Given the description of an element on the screen output the (x, y) to click on. 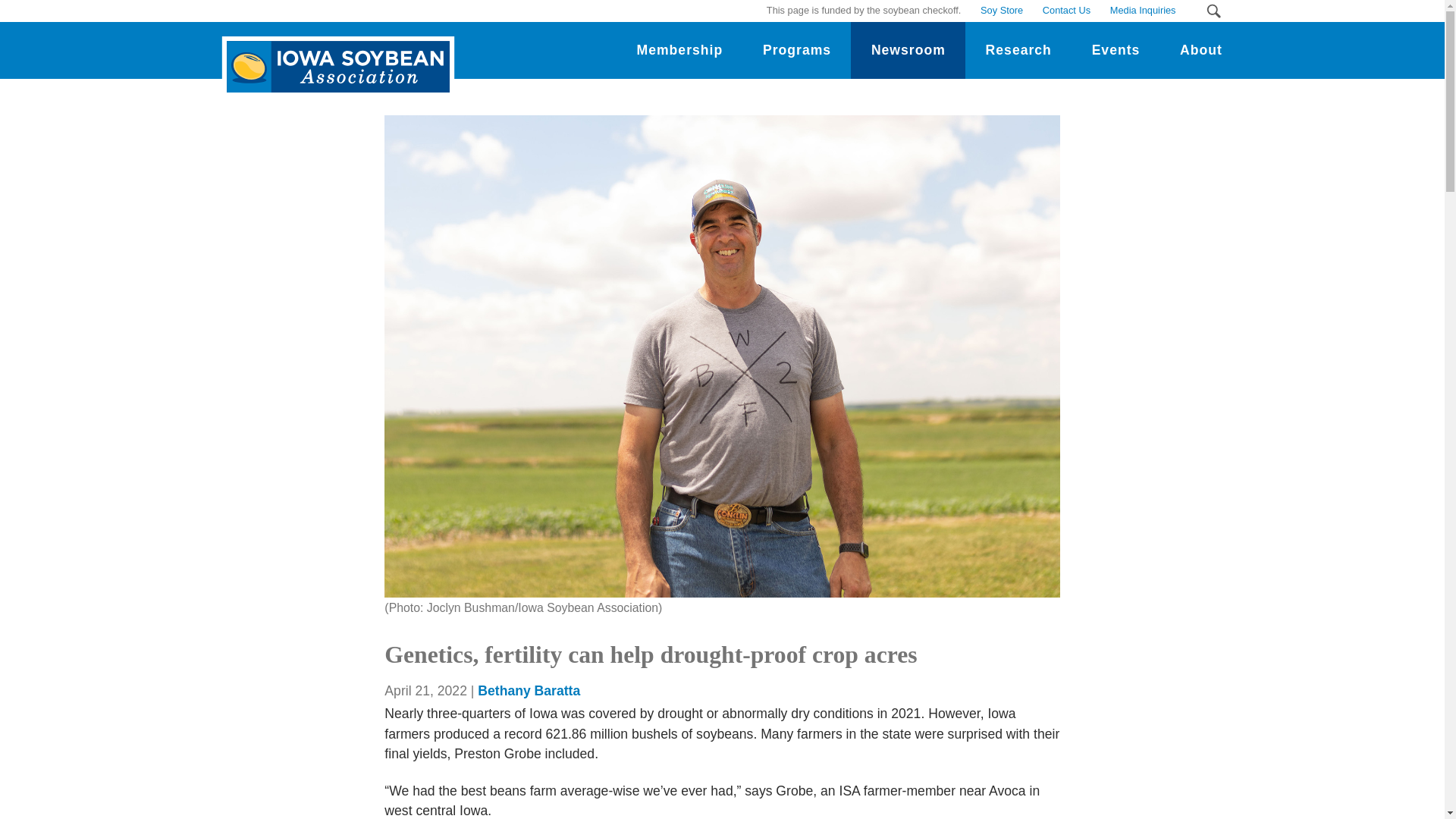
Membership (678, 50)
Events (1114, 50)
Contact Us (1066, 11)
This page is funded by the soybean checkoff. (864, 11)
Programs (796, 50)
Soy Store (1001, 11)
Media Inquiries (1142, 11)
Search (1213, 11)
Research (1018, 50)
Iowa Soybean Association. Link to homepage (334, 54)
Newsroom (907, 50)
About (1201, 50)
